Given the description of an element on the screen output the (x, y) to click on. 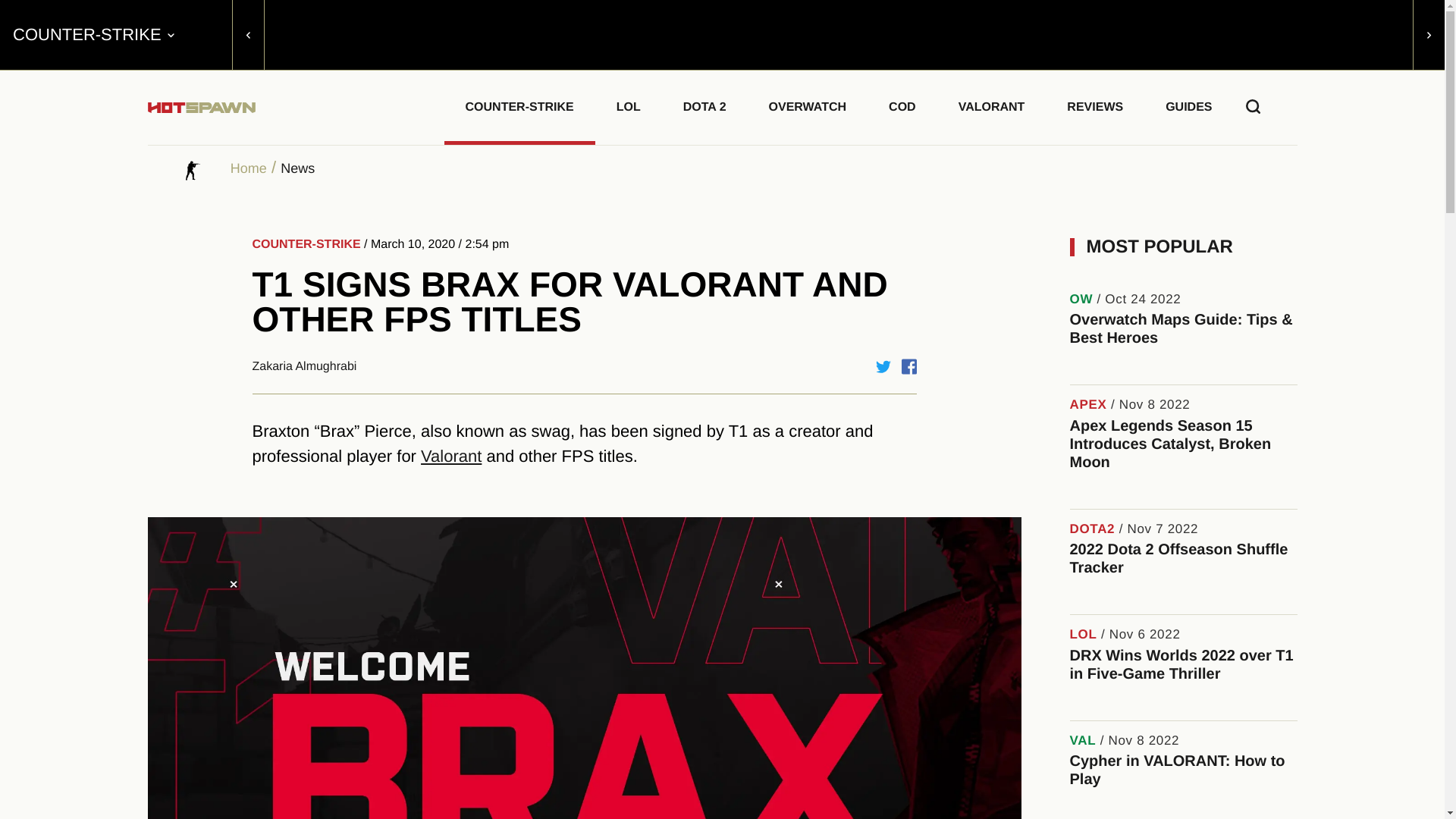
COUNTER-STRIKE (519, 105)
LOL (628, 105)
